Given the description of an element on the screen output the (x, y) to click on. 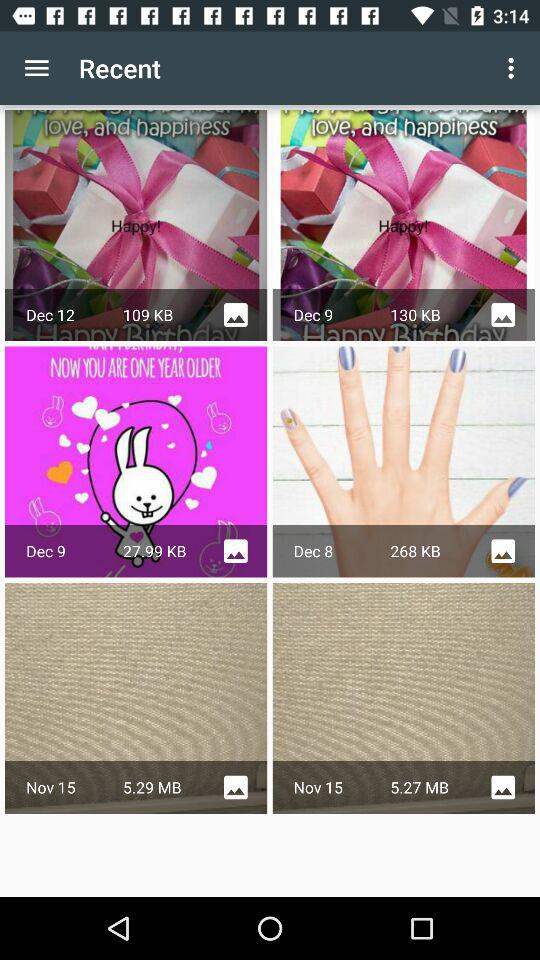
launch item to the left of the recent (36, 68)
